Given the description of an element on the screen output the (x, y) to click on. 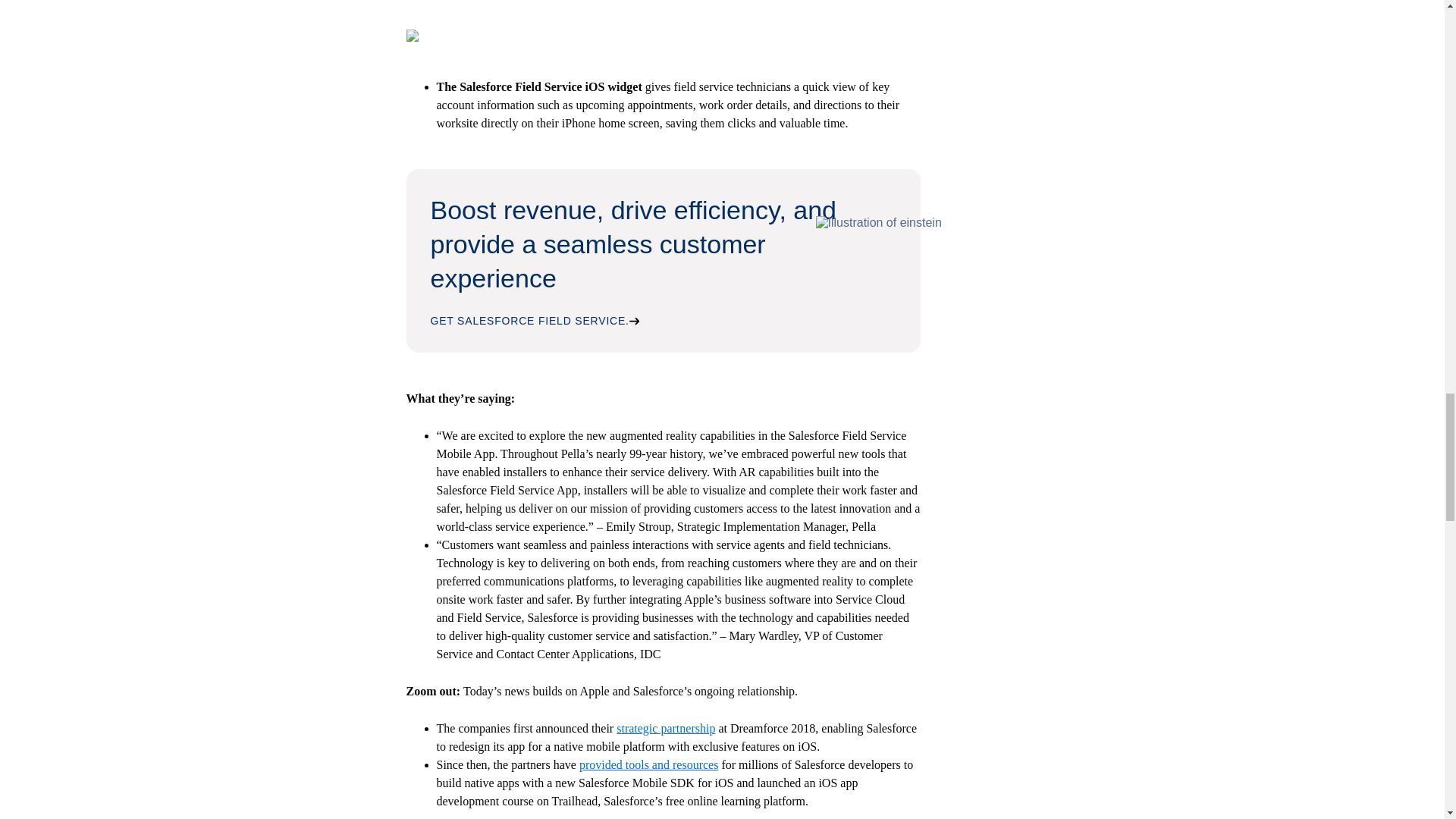
strategic partnership (664, 727)
provided tools and resources (649, 764)
GET SALESFORCE FIELD SERVICE. (535, 320)
